Given the description of an element on the screen output the (x, y) to click on. 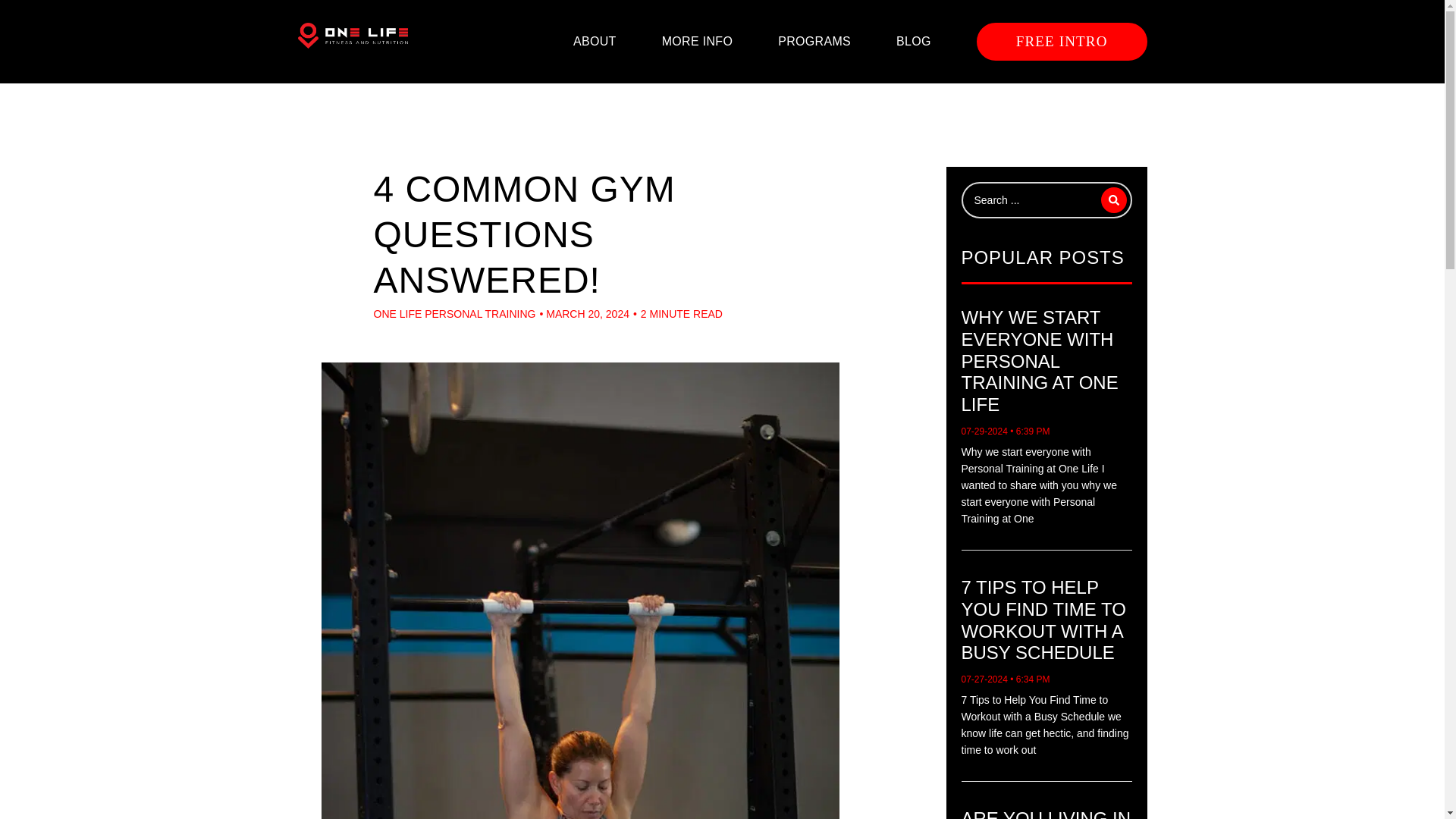
PROGRAMS (813, 41)
FREE INTRO (1061, 41)
WHY WE START EVERYONE WITH PERSONAL TRAINING AT ONE LIFE (1039, 360)
ARE YOU LIVING IN THE GAP? (1045, 813)
7 TIPS TO HELP YOU FIND TIME TO WORKOUT WITH A BUSY SCHEDULE (1042, 619)
ABOUT (594, 41)
MORE INFO (697, 41)
BLOG (913, 41)
